Given the description of an element on the screen output the (x, y) to click on. 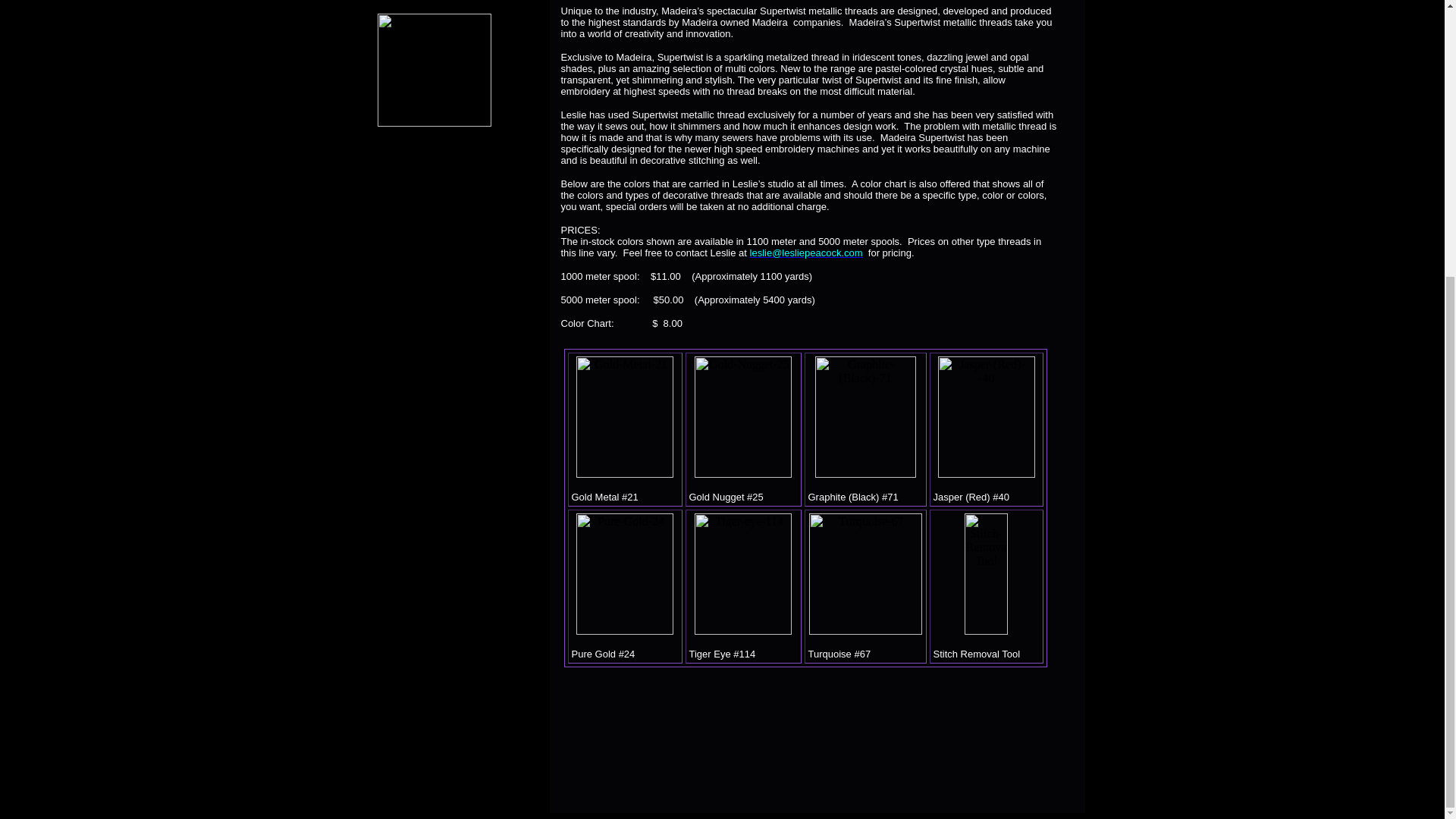
Tiger-eye-114 (743, 573)
"I Don't Exaggerate...I Embellish" (434, 69)
Turquoise-67 (864, 573)
Gold-Nugget-25 (743, 416)
Stitch-Removal-Tool (985, 573)
Pure-Gold-24 (624, 573)
Gold-Metal-21 (624, 416)
